Given the description of an element on the screen output the (x, y) to click on. 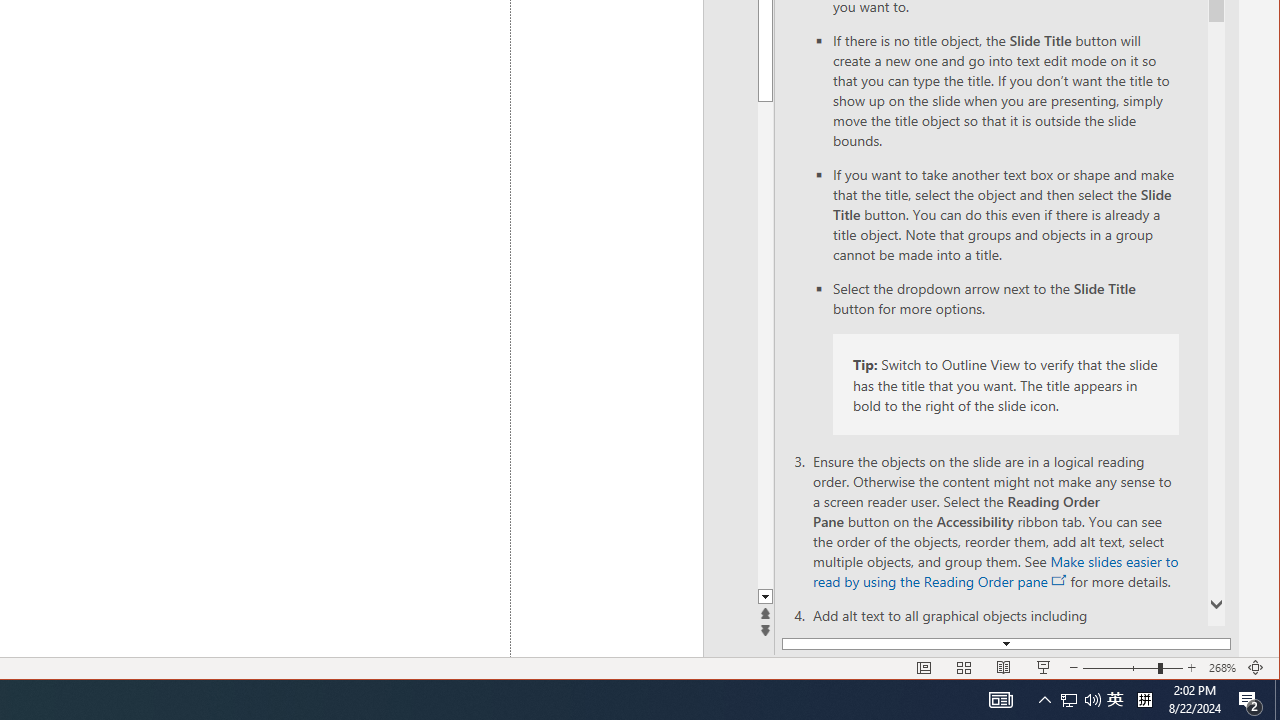
Action Center, 2 new notifications (1250, 699)
User Promoted Notification Area (1069, 699)
Notification Chevron (1115, 699)
Line down (1080, 699)
Q2790: 100% (1044, 699)
